Given the description of an element on the screen output the (x, y) to click on. 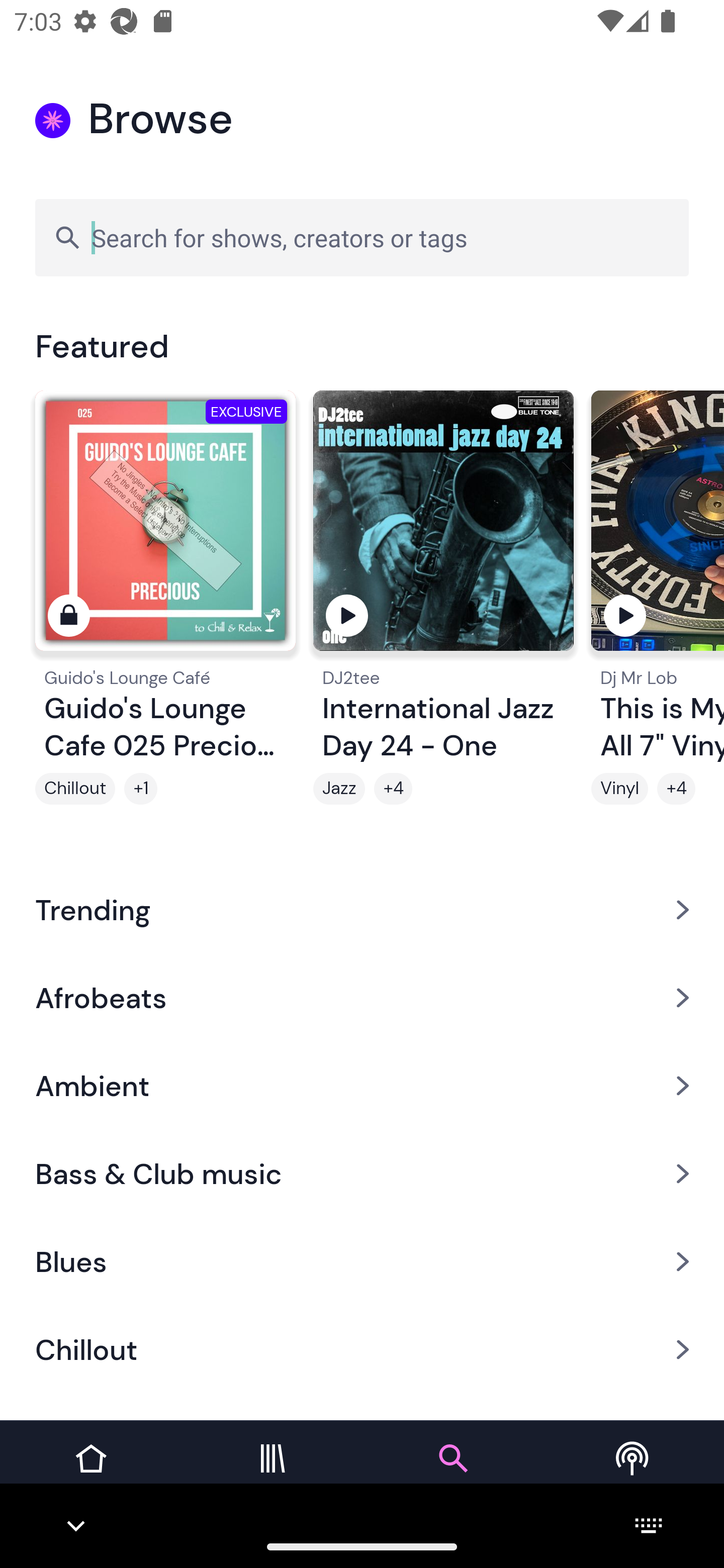
Search for shows, creators or tags (361, 237)
EXCLUSIVE (165, 528)
Chillout (75, 788)
Jazz (338, 788)
Vinyl (619, 788)
Trending (361, 909)
Afrobeats (361, 997)
Ambient (361, 1085)
Bass & Club music (361, 1174)
Blues (361, 1262)
Chillout (361, 1349)
Home tab (90, 1473)
Library tab (271, 1473)
